Given the description of an element on the screen output the (x, y) to click on. 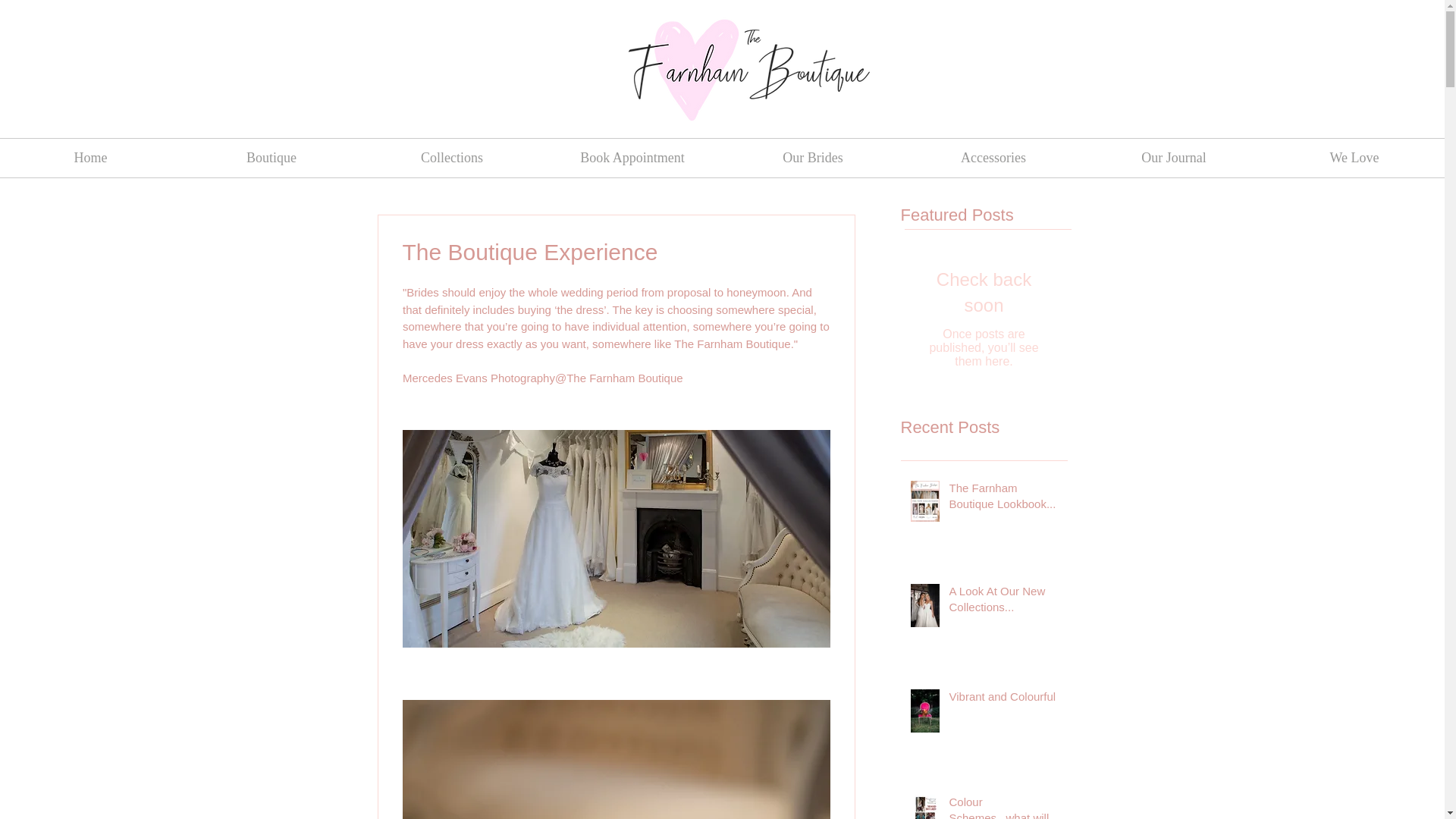
Our Brides (812, 157)
Accessories (992, 157)
Home (90, 157)
Boutique (270, 157)
Collections (451, 157)
Our Journal (1173, 157)
Vibrant and Colourful (1003, 699)
Book Appointment (631, 157)
The Farnham Boutique Lookbook... (1003, 498)
Colour Schemes...what will you choose? (1003, 806)
A Look At Our New Collections... (1003, 601)
